Given the description of an element on the screen output the (x, y) to click on. 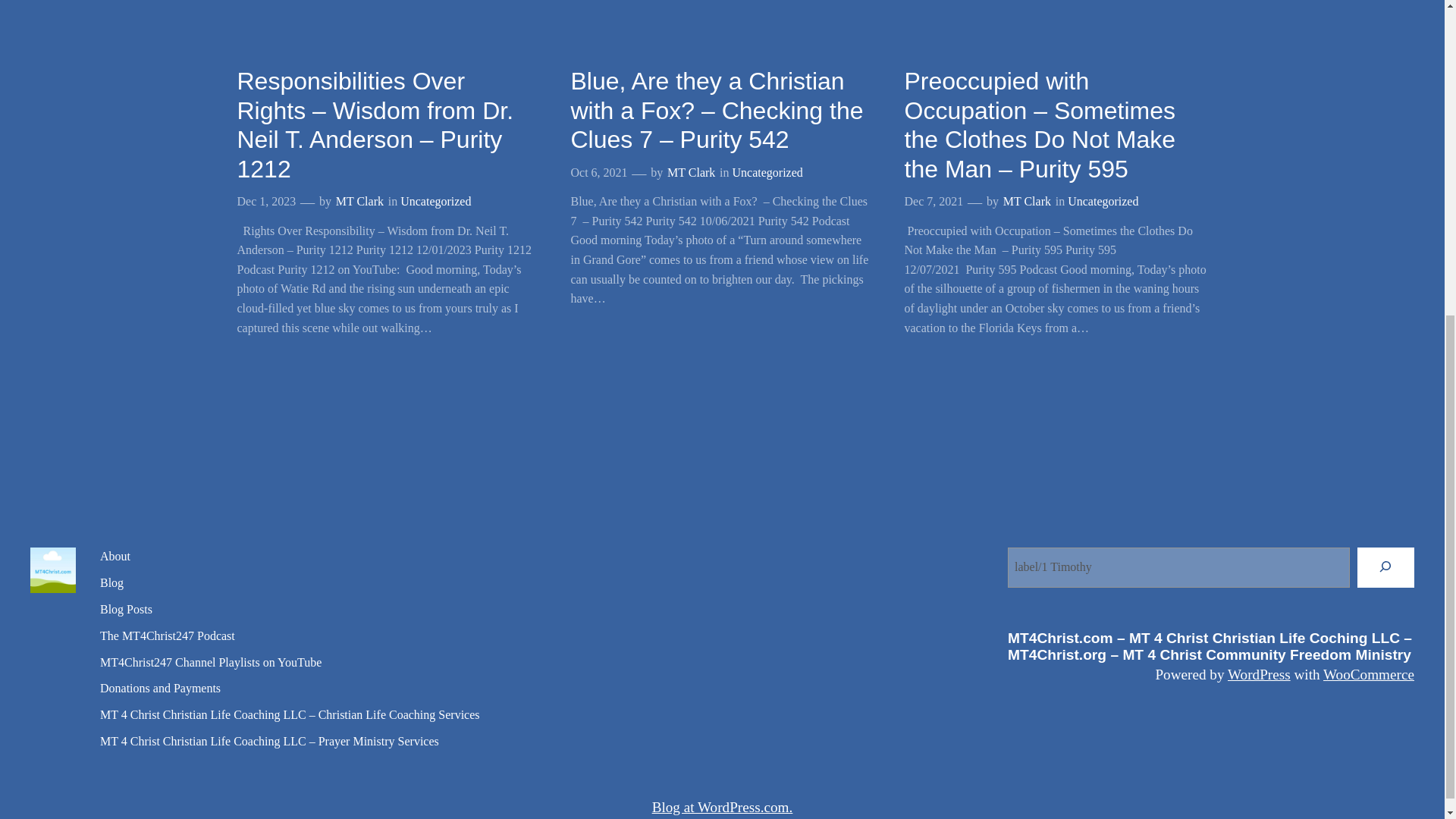
Uncategorized (767, 172)
About (115, 556)
Blog at WordPress.com. (722, 806)
WordPress (1258, 674)
Uncategorized (435, 201)
MT Clark (360, 201)
Uncategorized (1102, 201)
The MT4Christ247 Podcast (167, 636)
Blog (111, 583)
Dec 7, 2021 (933, 201)
MT Clark (1027, 201)
Blog Posts (126, 609)
WooCommerce (1368, 674)
Dec 1, 2023 (265, 201)
MT4Christ247 Channel Playlists on YouTube (210, 662)
